Given the description of an element on the screen output the (x, y) to click on. 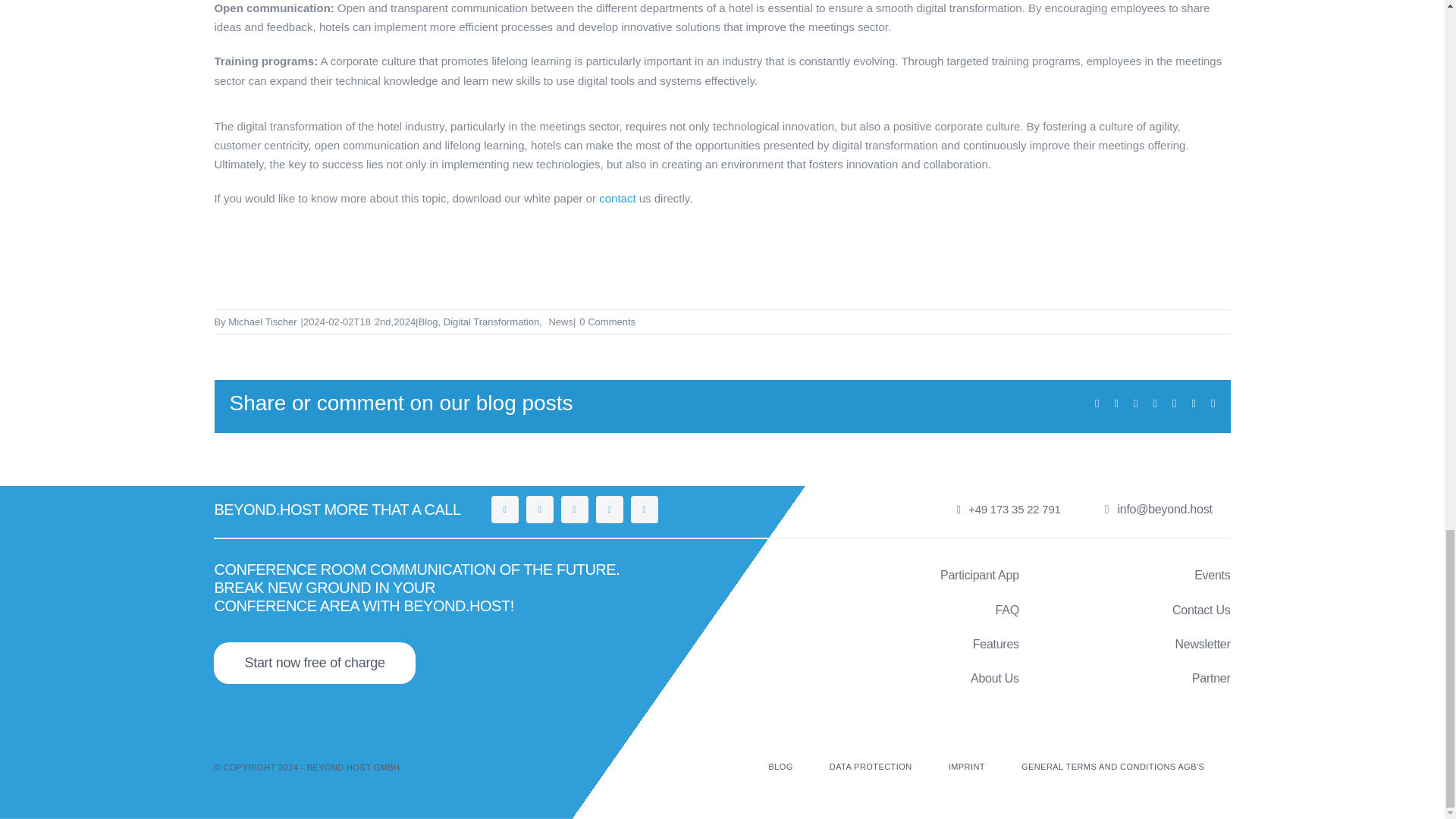
Contributions from Michael Tischer (262, 321)
0 Comments (606, 321)
contact (618, 197)
Digital Transformation (491, 321)
Michael Tischer (262, 321)
